Given the description of an element on the screen output the (x, y) to click on. 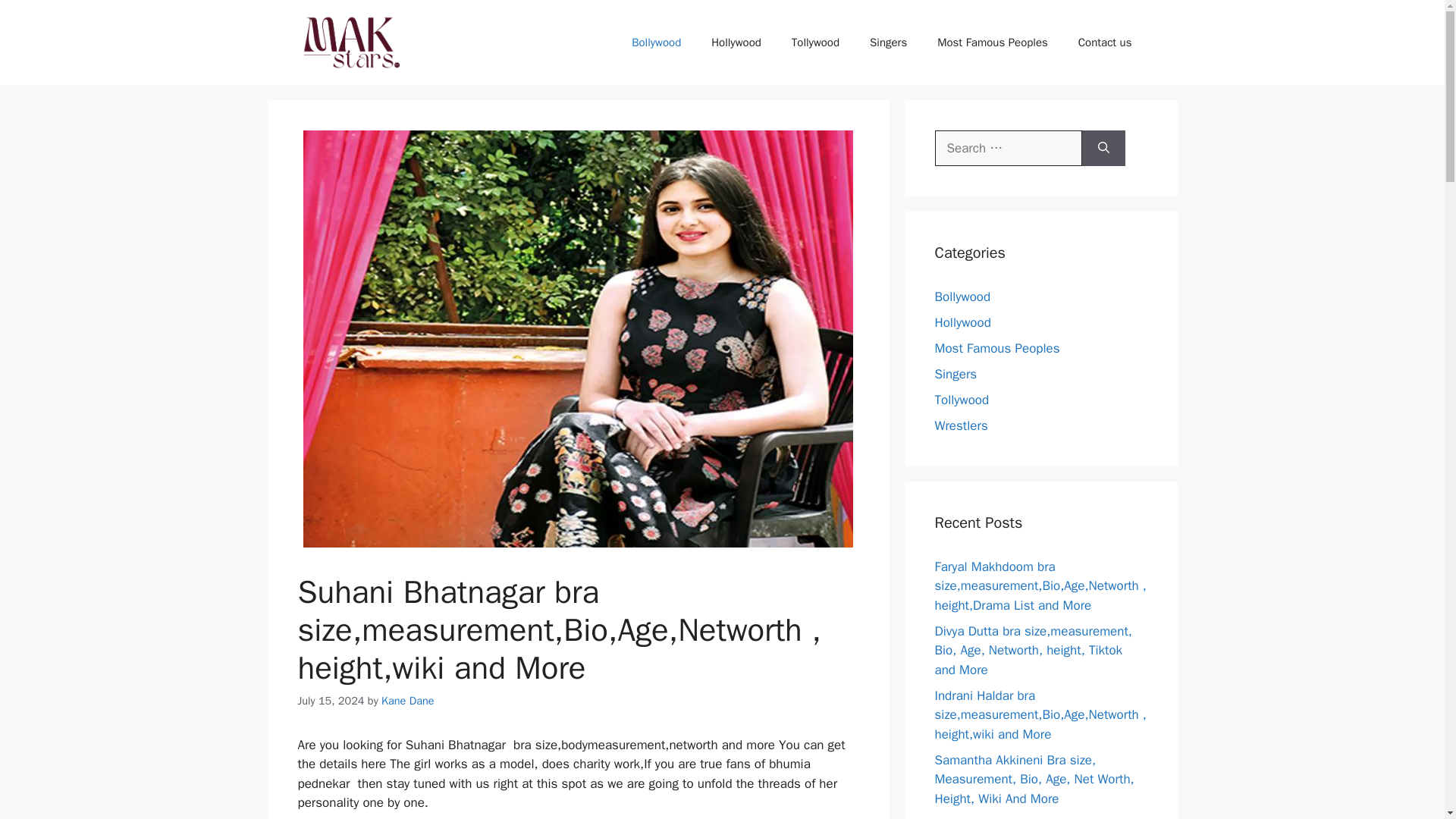
Bollywood (655, 42)
Singers (955, 374)
Wrestlers (960, 425)
Hollywood (962, 322)
Most Famous Peoples (991, 42)
Most Famous Peoples (996, 348)
Singers (887, 42)
